Given the description of an element on the screen output the (x, y) to click on. 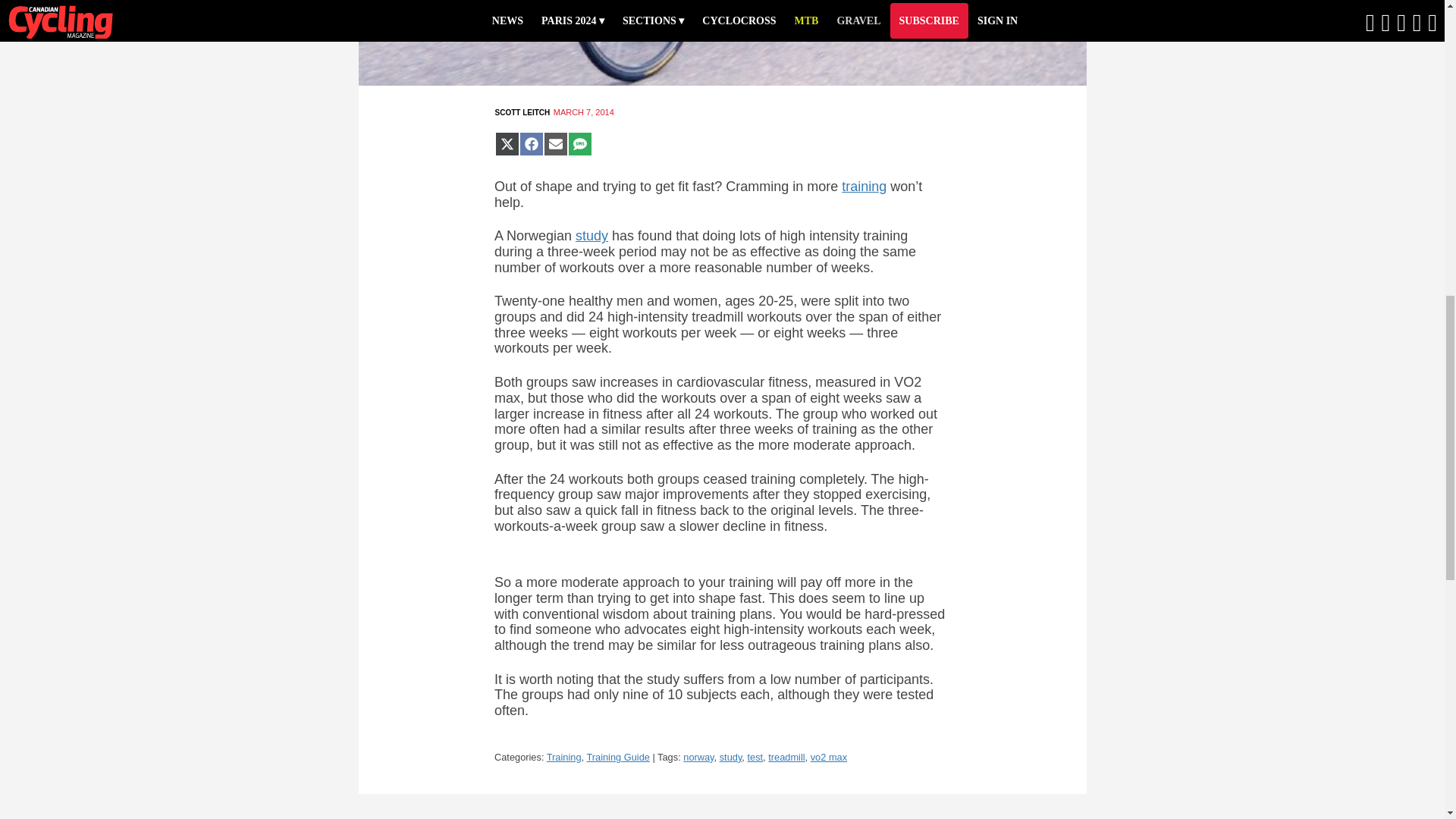
training (863, 186)
Posts by Scott Leitch (522, 112)
Share on SMS (579, 143)
norway (697, 756)
study (591, 235)
Share on Email (555, 143)
study (730, 756)
Share on Facebook (530, 143)
SCOTT LEITCH (522, 112)
Training (563, 756)
Why your training should focus on intensity this winter (863, 186)
Training Guide (617, 756)
